Given the description of an element on the screen output the (x, y) to click on. 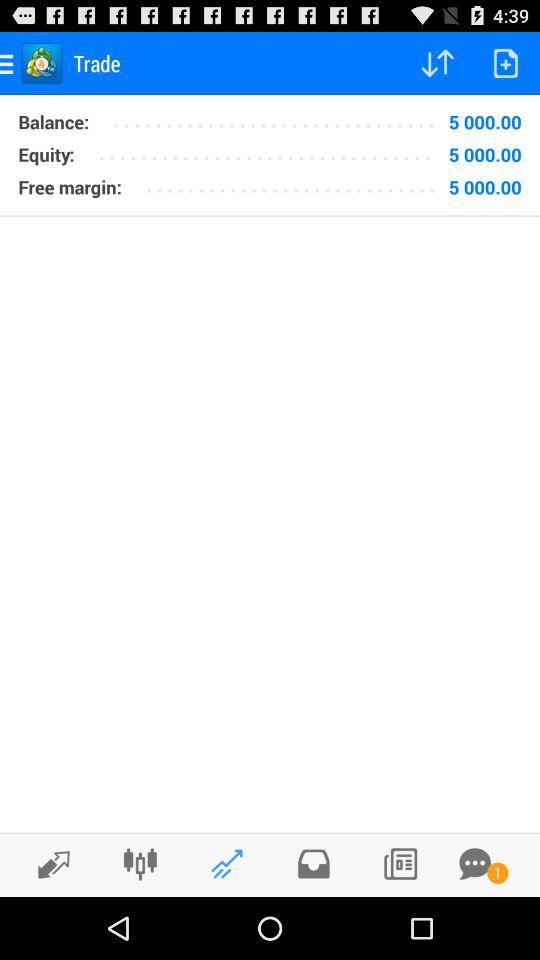
chat link (475, 864)
